Given the description of an element on the screen output the (x, y) to click on. 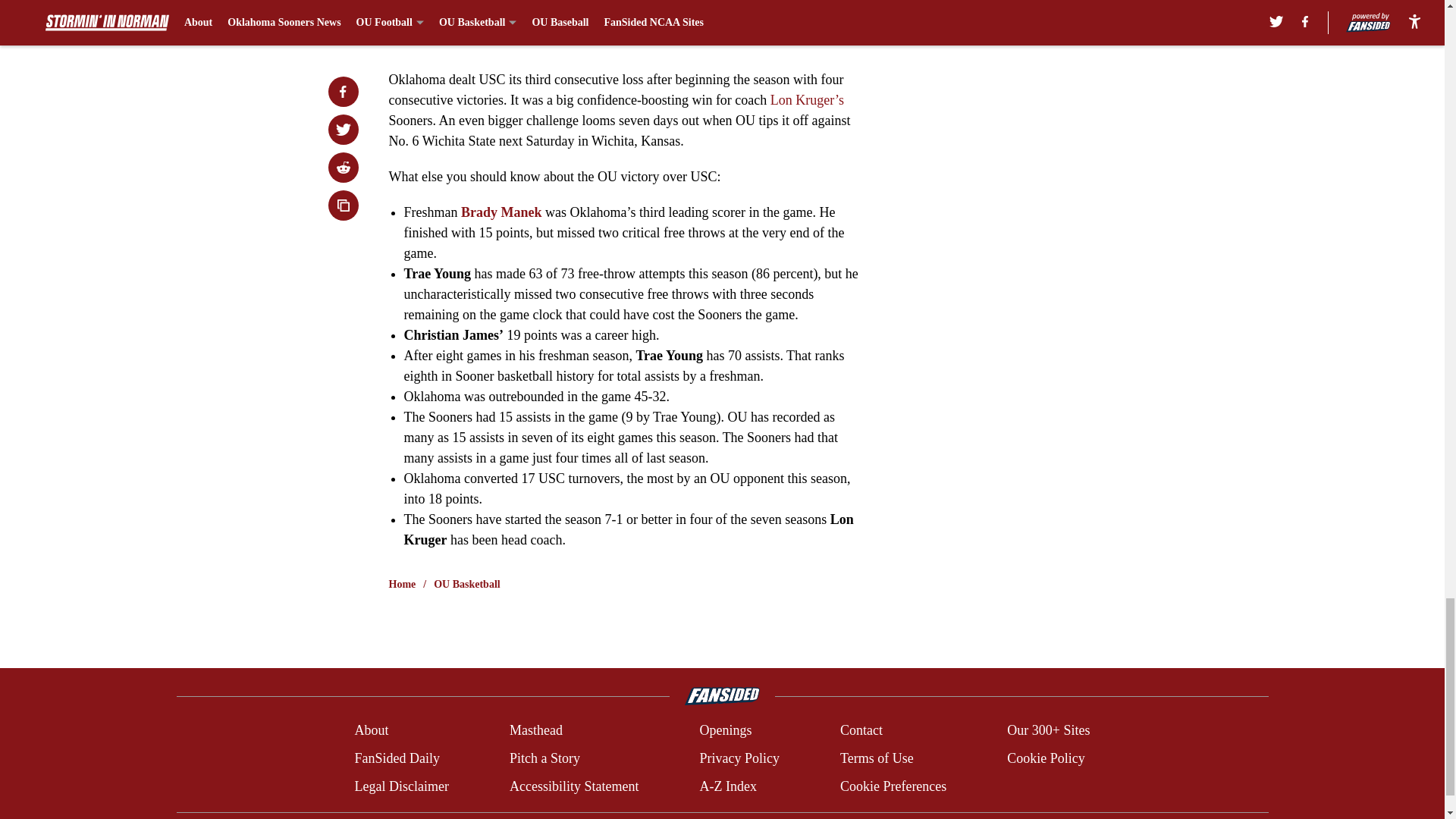
Masthead (535, 730)
Privacy Policy (738, 758)
Cookie Policy (1045, 758)
Contact (861, 730)
Terms of Use (877, 758)
About (370, 730)
Home (401, 584)
OU Basketball (466, 584)
Legal Disclaimer (400, 786)
FanSided Daily (396, 758)
Brady Manek (502, 212)
Openings (724, 730)
Pitch a Story (544, 758)
Accessibility Statement (574, 786)
